Given the description of an element on the screen output the (x, y) to click on. 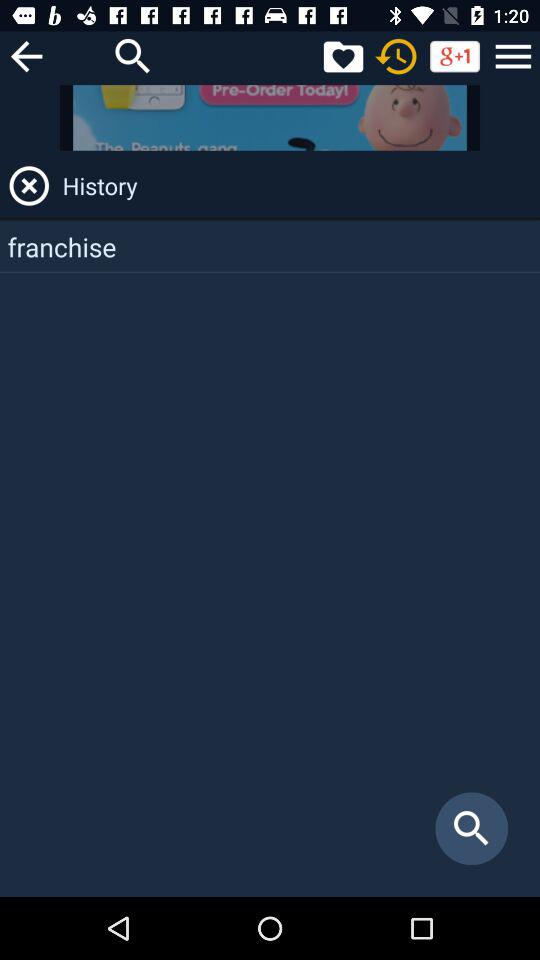
click on rewind icon (396, 56)
